Given the description of an element on the screen output the (x, y) to click on. 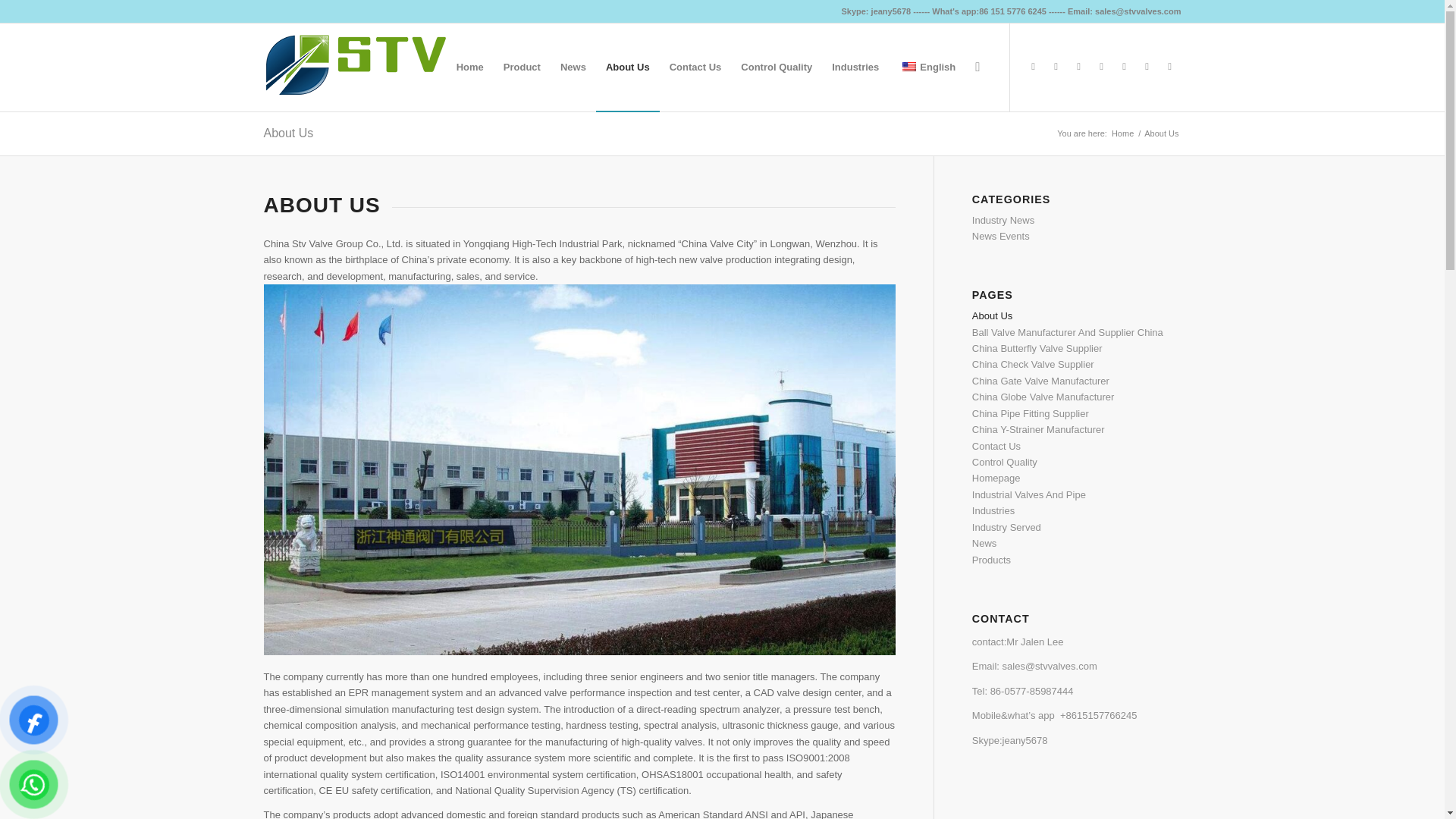
Instagram (1146, 66)
Skype (1101, 66)
Mail (1169, 66)
English (908, 66)
Pinterest (1056, 66)
Facebook (1033, 66)
Twitter (1078, 66)
Linkedin (1124, 66)
